Given the description of an element on the screen output the (x, y) to click on. 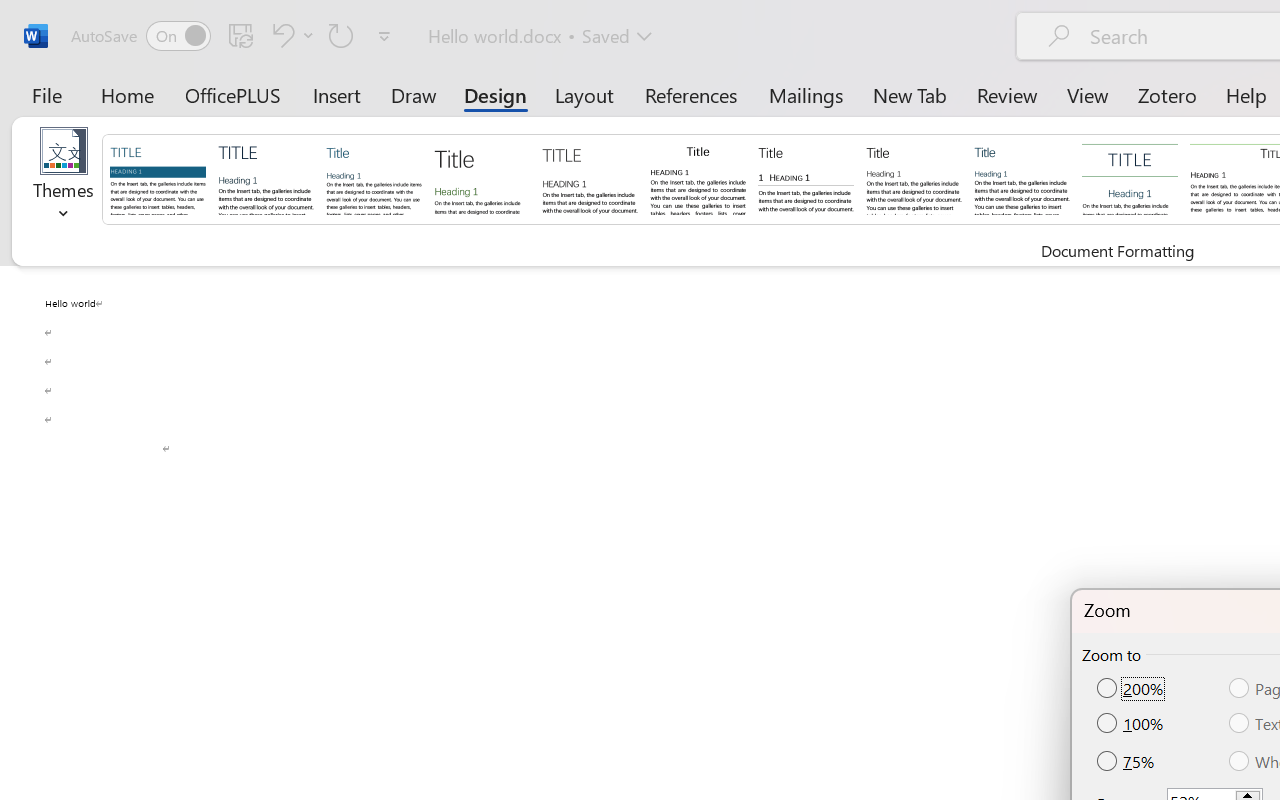
Black & White (Capitalized) (589, 178)
Undo Apply Quick Style Set (290, 35)
Centered (1130, 178)
Basic (Elegant) (266, 178)
Save (241, 35)
Themes (63, 179)
Design (495, 94)
Mailings (806, 94)
References (690, 94)
Review (1007, 94)
Undo Apply Quick Style Set (280, 35)
More Options (308, 35)
Customize Quick Access Toolbar (384, 35)
